Given the description of an element on the screen output the (x, y) to click on. 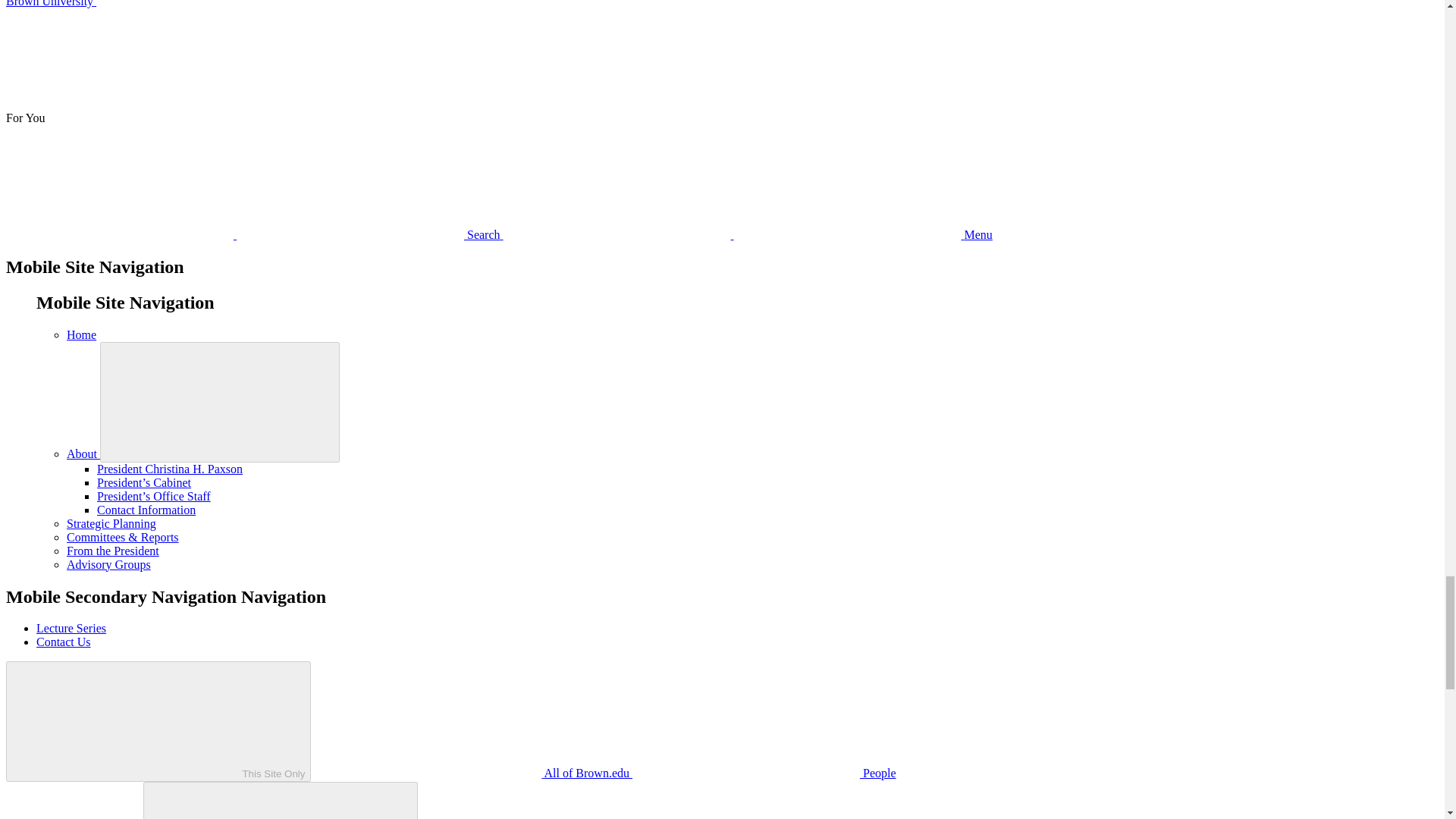
Menu (747, 234)
Brown University (164, 3)
Search (254, 234)
